Given the description of an element on the screen output the (x, y) to click on. 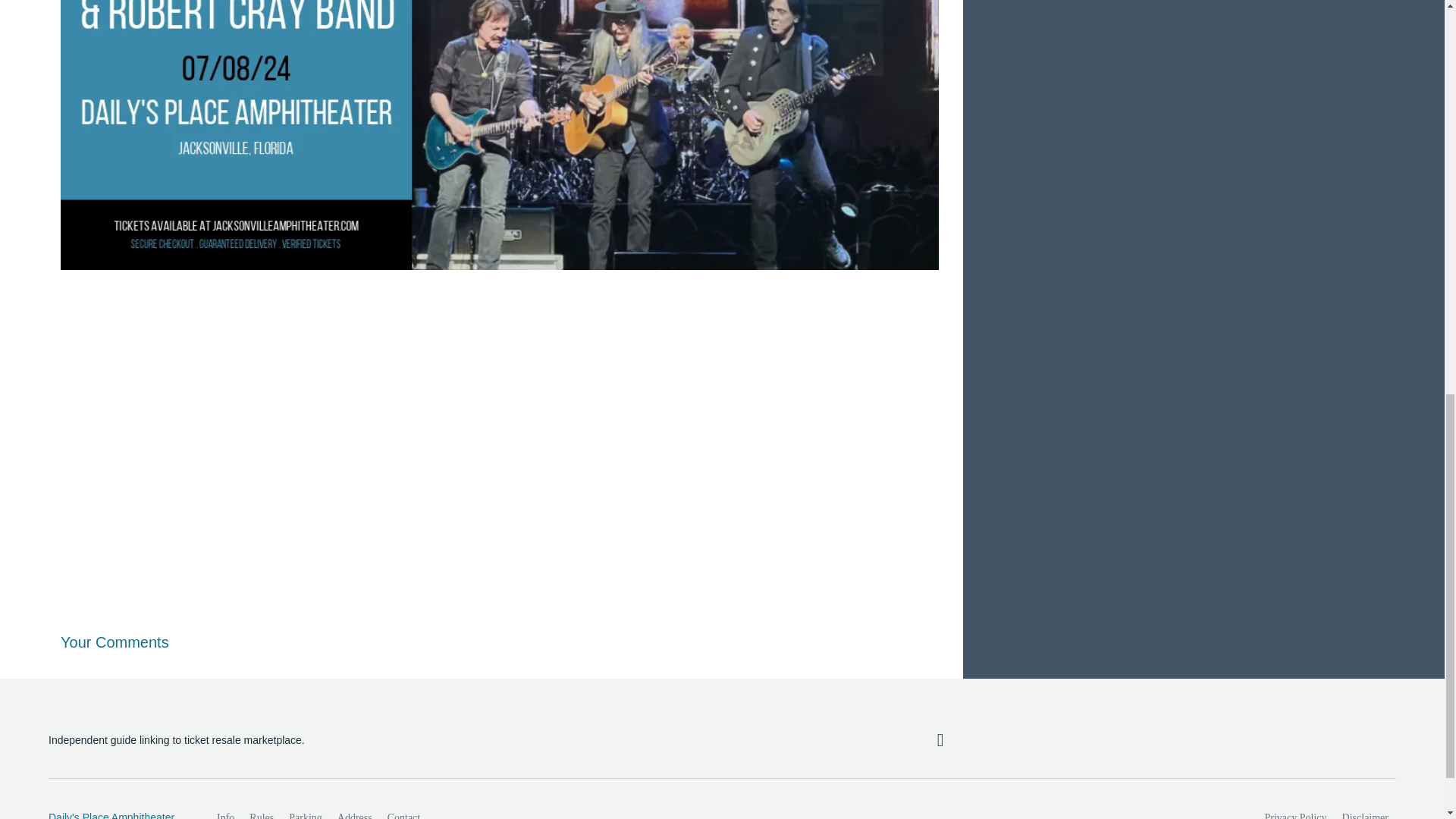
Rules (261, 811)
Parking (305, 811)
Info (225, 811)
Daily's Place Amphitheater (116, 814)
Disclaimer (1365, 811)
Privacy Policy (1296, 811)
Address (355, 811)
VIEW ALL EVENTS (1203, 2)
Contact (404, 811)
